Given the description of an element on the screen output the (x, y) to click on. 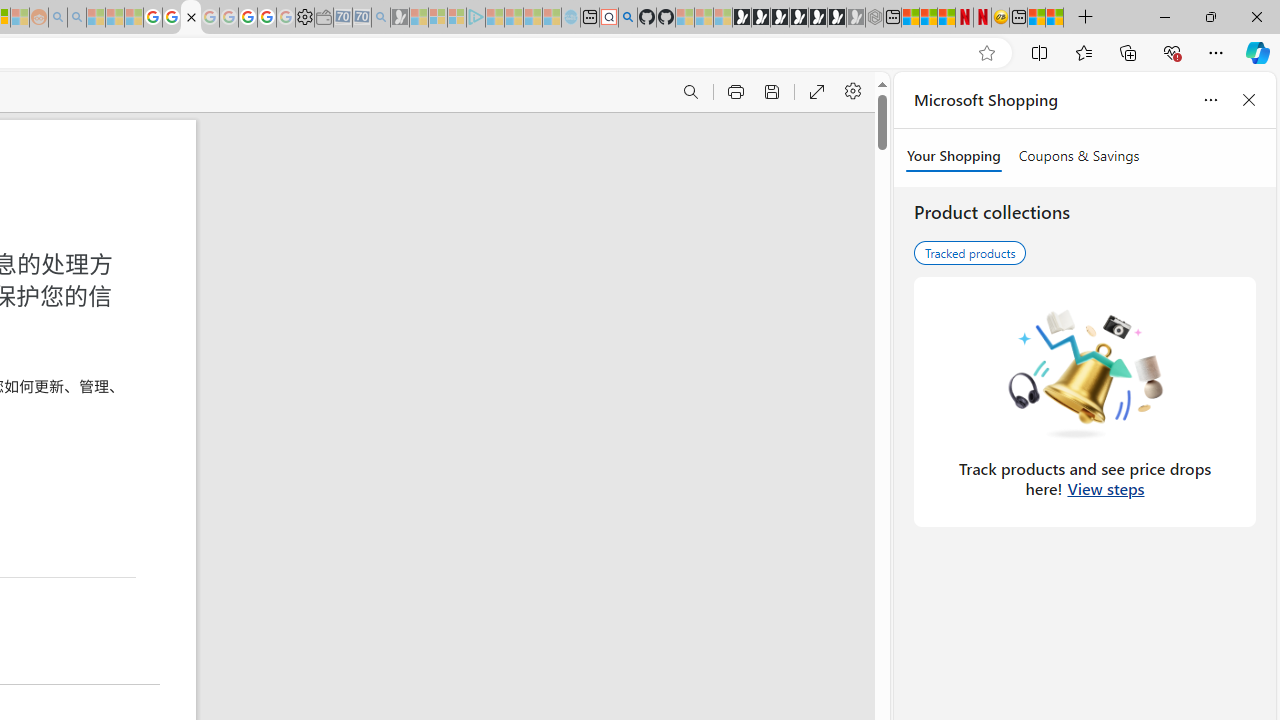
Save (Ctrl+S) (770, 92)
Microsoft Start - Sleeping (532, 17)
Play Cave FRVR in your browser | Games from Microsoft Start (779, 17)
